Given the description of an element on the screen output the (x, y) to click on. 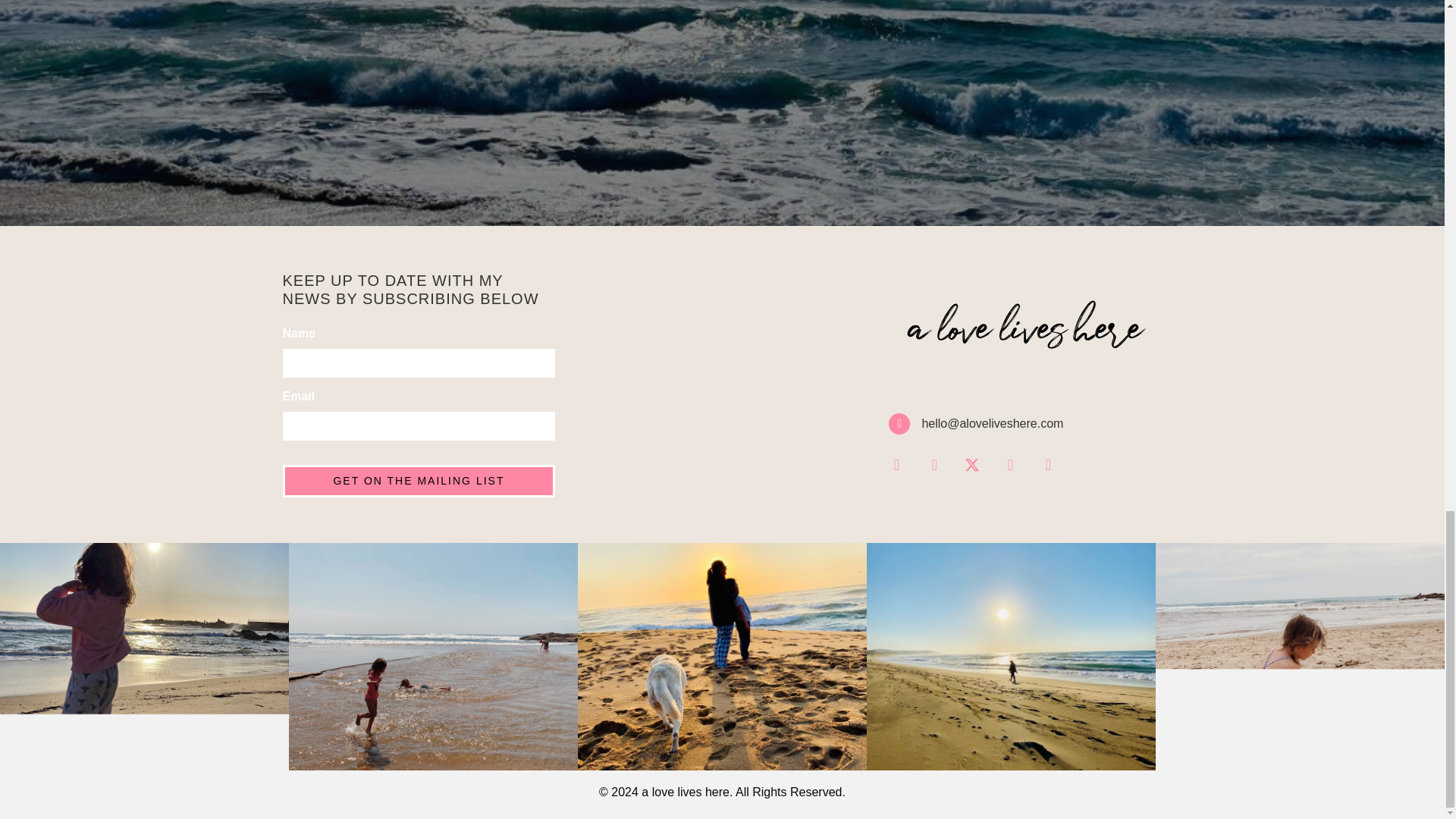
aloveliveshere Website Logo (1024, 334)
Facebook (934, 464)
Instagram (896, 464)
GET ON THE MAILING LIST (418, 481)
LinkedIn (1010, 464)
Pinterest (1048, 464)
